Given the description of an element on the screen output the (x, y) to click on. 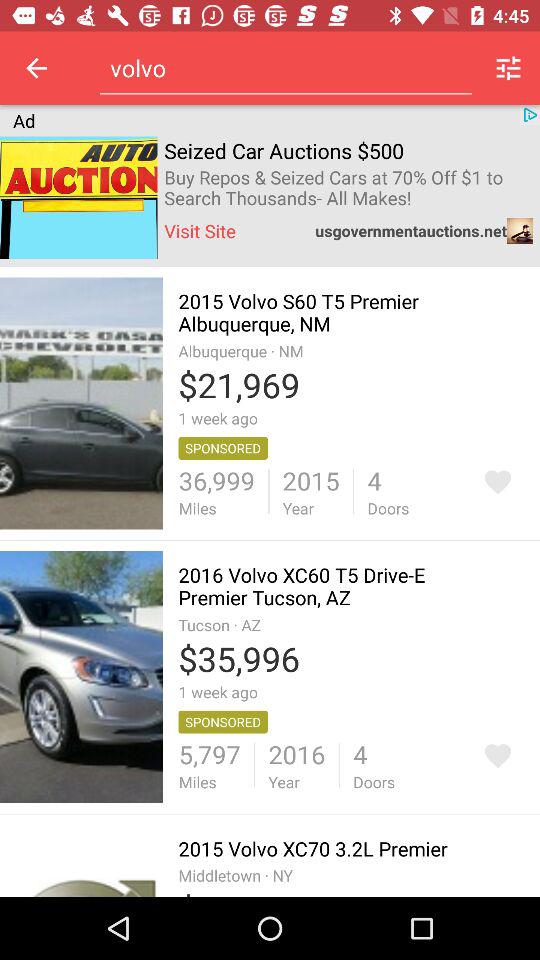
favorite the advertisement (497, 755)
